Given the description of an element on the screen output the (x, y) to click on. 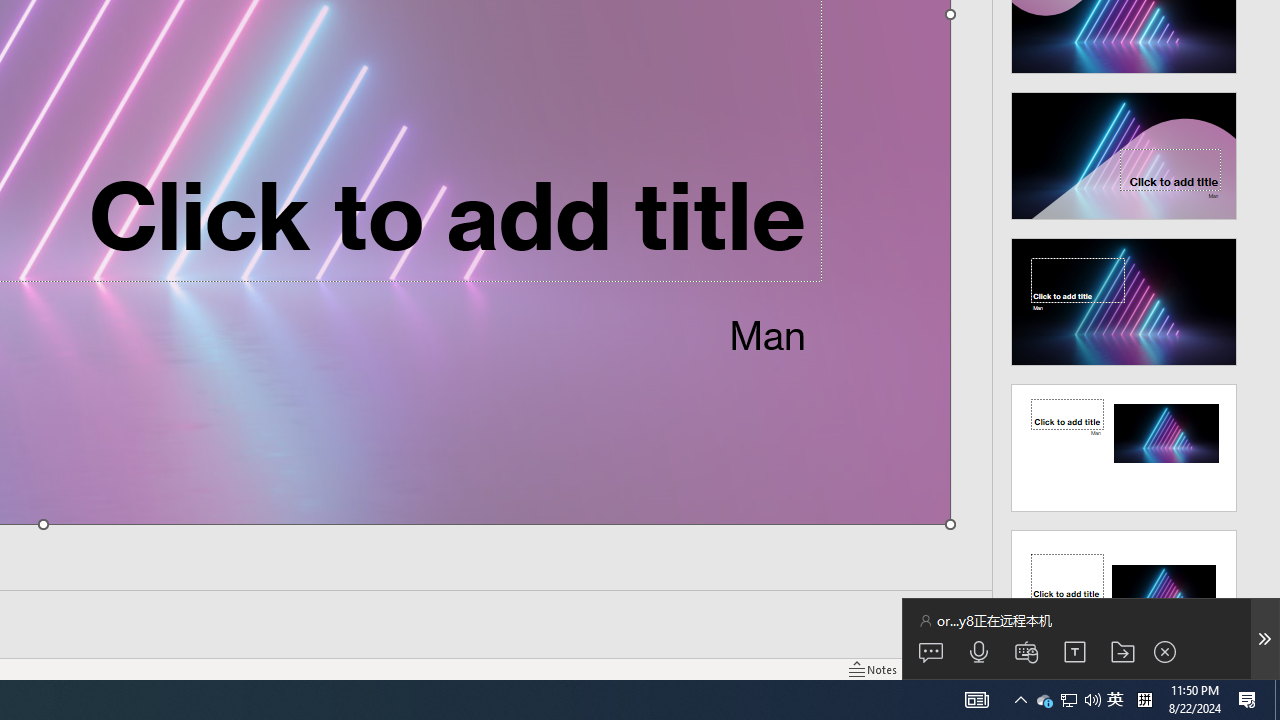
Reading View (1015, 668)
Notes  (874, 668)
Zoom In (1204, 668)
Zoom 142% (1234, 668)
Zoom (1144, 668)
Design Idea (1124, 587)
Zoom to Fit  (1267, 668)
Class: NetUIImage (1124, 593)
Zoom Out (1121, 668)
Normal (936, 668)
Slide Sorter (975, 668)
